Given the description of an element on the screen output the (x, y) to click on. 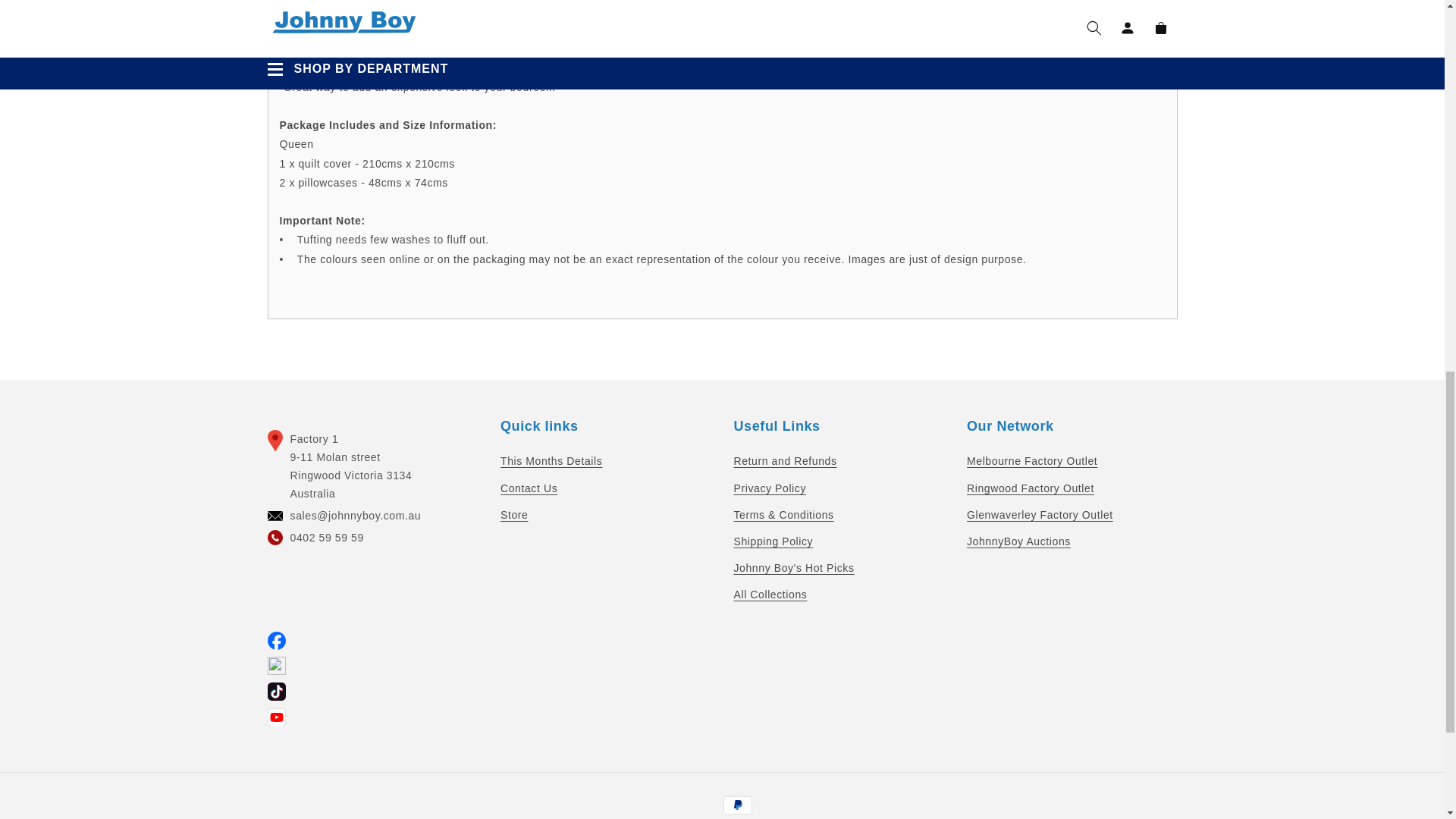
PayPal (737, 805)
